Given the description of an element on the screen output the (x, y) to click on. 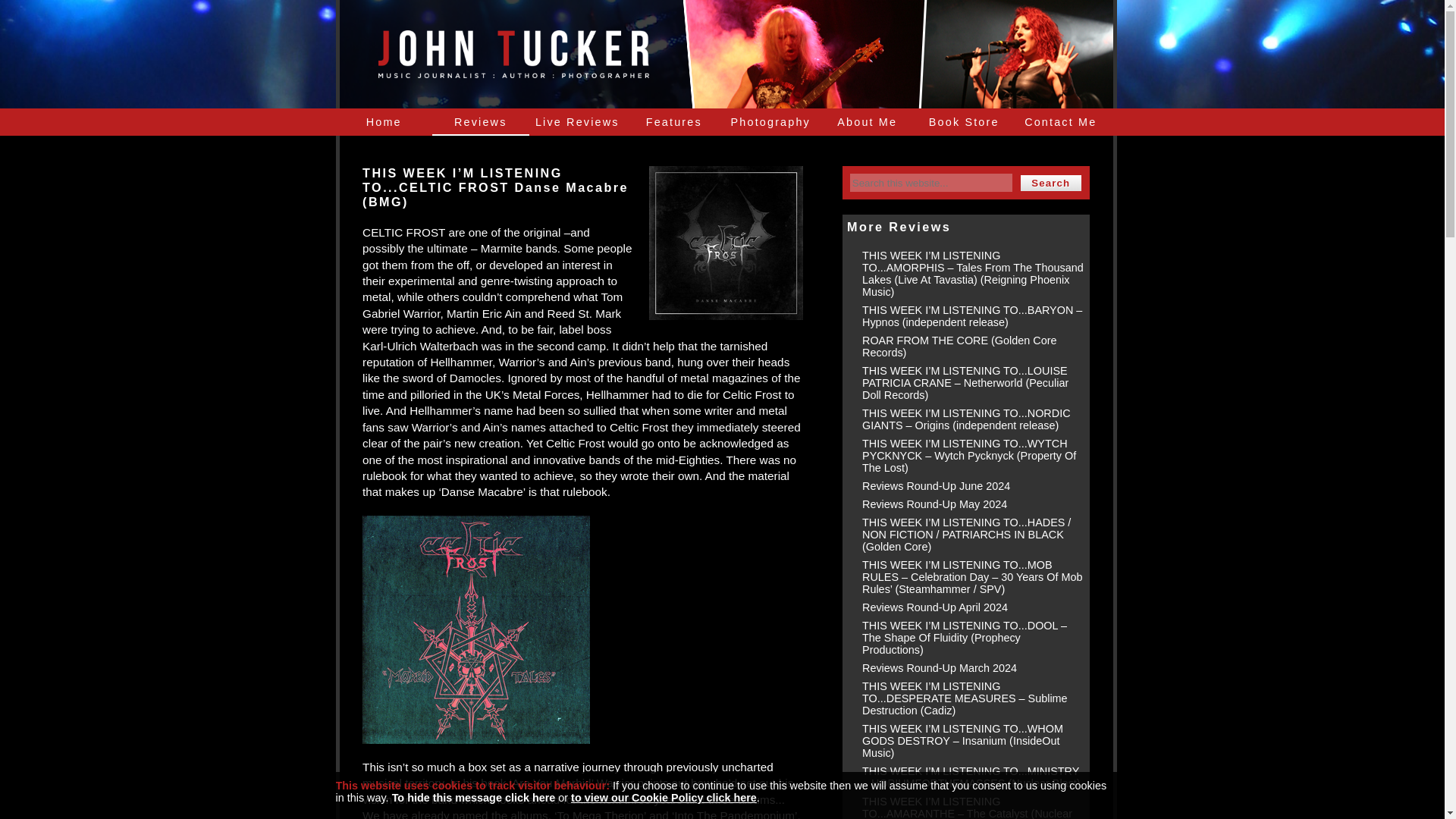
About Me (866, 121)
Home (383, 121)
Home (383, 121)
About Me (866, 121)
Contact Me (1060, 121)
Reviews Round-Up May 2024 (934, 503)
John Tucker Online (512, 53)
Book Store (964, 121)
Search (1050, 182)
Book Store (964, 121)
Reviews Round-Up April 2024 (934, 607)
John Tucker Online (512, 69)
Features (674, 121)
Photography (770, 121)
Photography (770, 121)
